Given the description of an element on the screen output the (x, y) to click on. 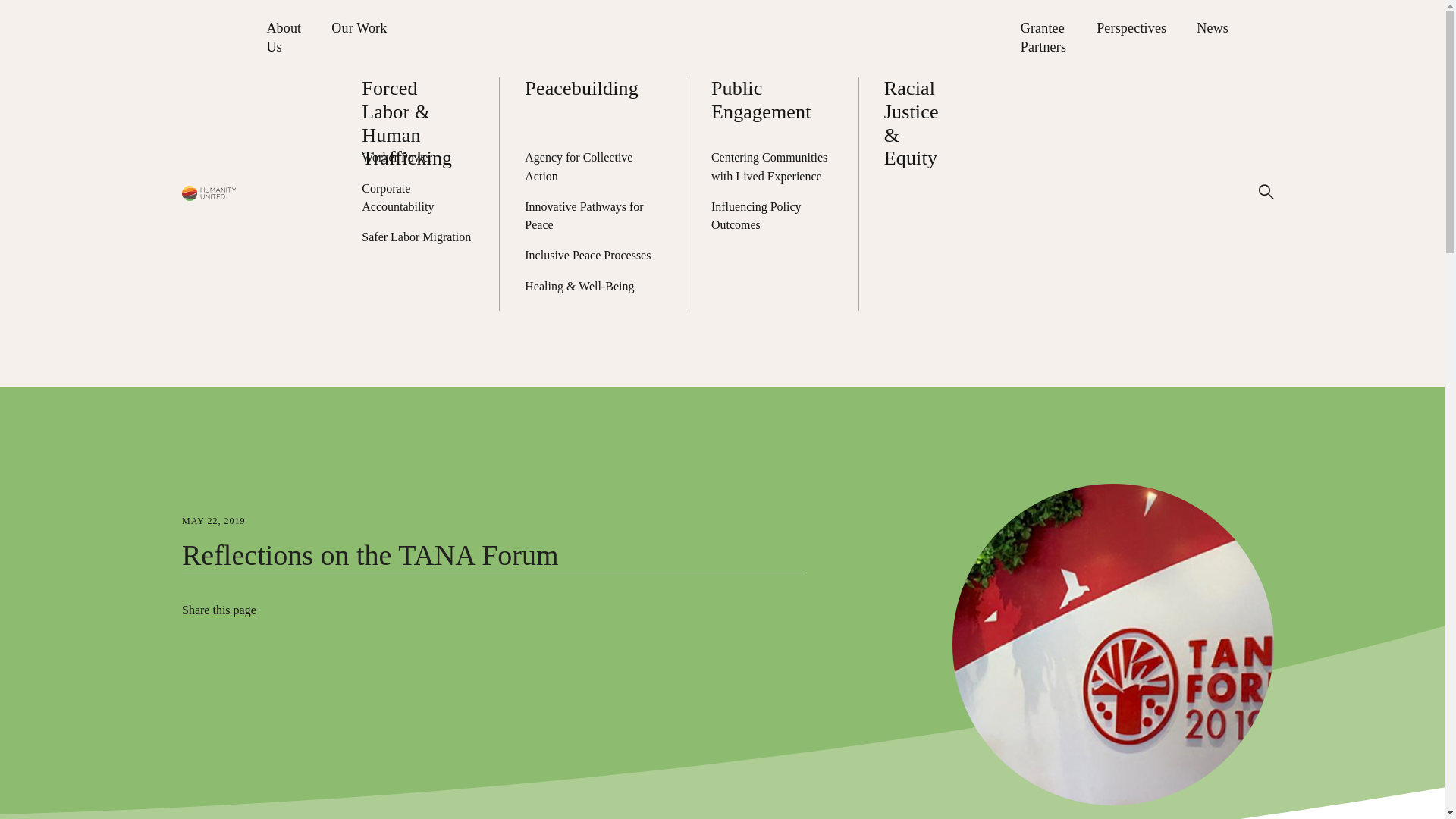
Grantee Partners (1042, 37)
News (1212, 27)
Inclusive Peace Processes (591, 255)
Worker Power (417, 157)
Public Engagement (771, 100)
Agency for Collective Action (591, 166)
Corporate Accountability (417, 197)
Safer Labor Migration (417, 237)
Influencing Policy Outcomes (771, 216)
